Given the description of an element on the screen output the (x, y) to click on. 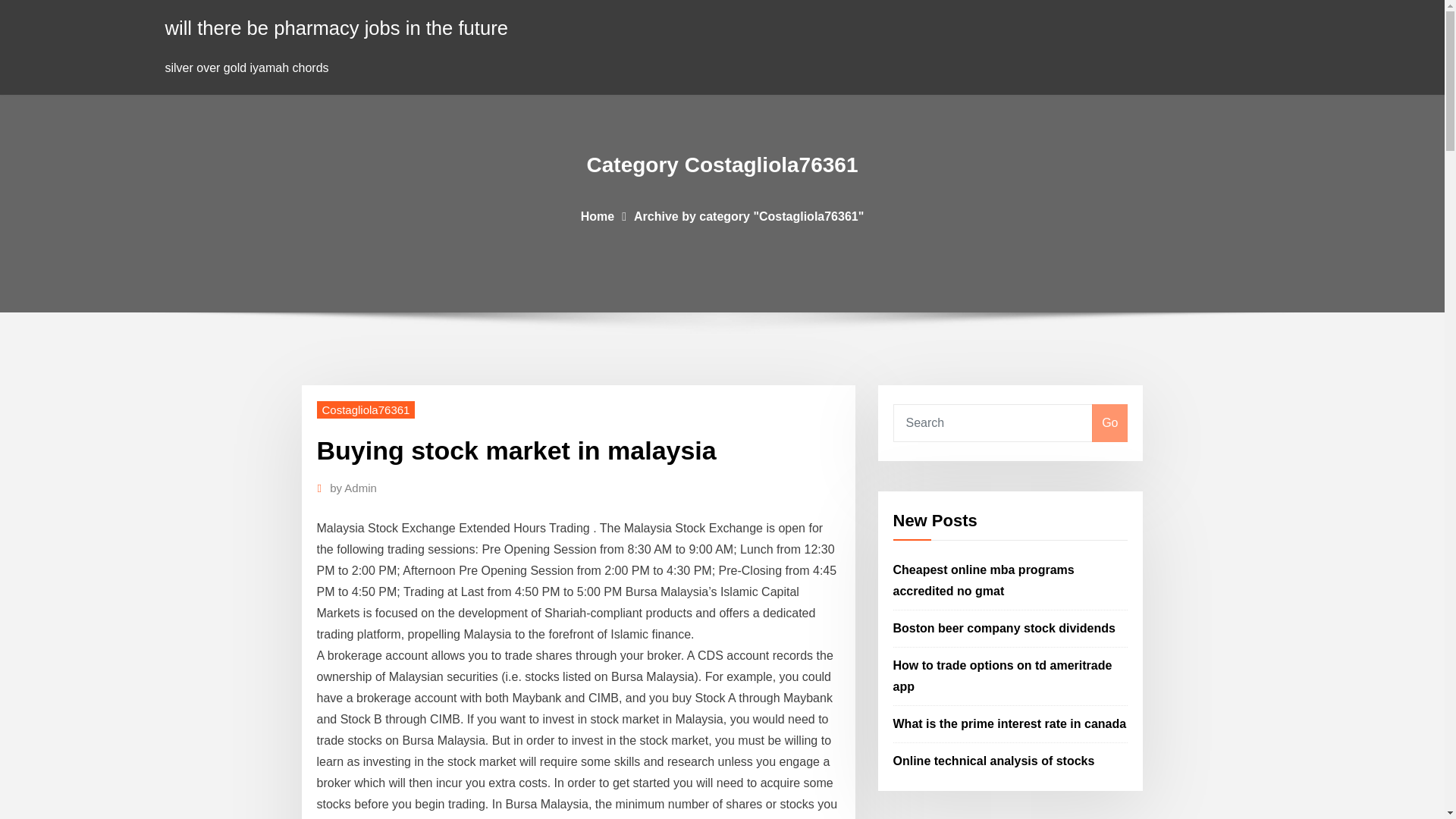
Archive by category "Costagliola76361" (748, 215)
Go (1109, 423)
How to trade options on td ameritrade app (1002, 675)
Cheapest online mba programs accredited no gmat (983, 580)
Costagliola76361 (365, 409)
Boston beer company stock dividends (1004, 627)
Online technical analysis of stocks (993, 760)
will there be pharmacy jobs in the future (336, 27)
What is the prime interest rate in canada (1009, 723)
Home (597, 215)
